Given the description of an element on the screen output the (x, y) to click on. 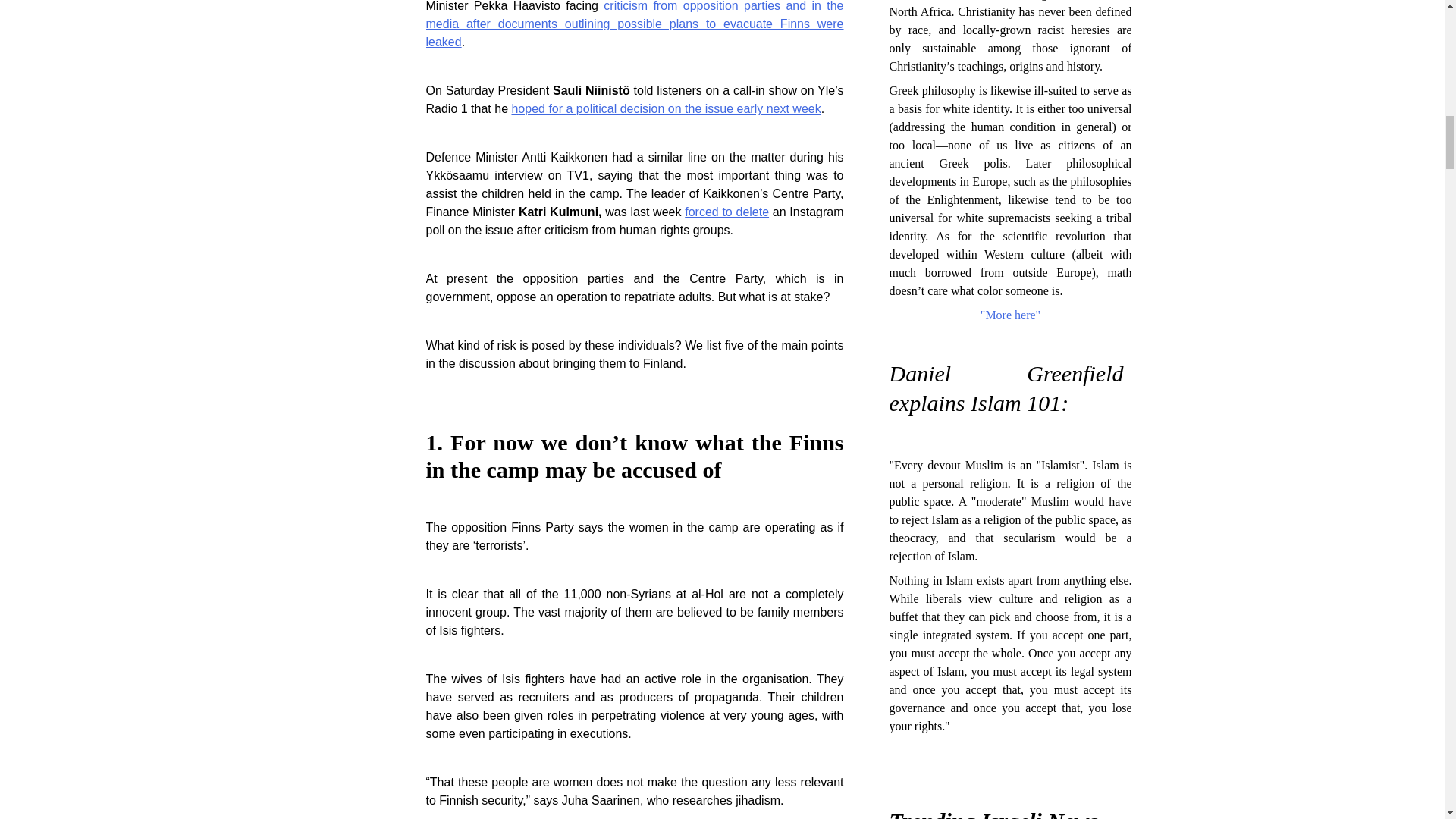
forced to delete (726, 211)
"More here" (1010, 314)
hoped for a political decision on the issue early next week (666, 108)
